Given the description of an element on the screen output the (x, y) to click on. 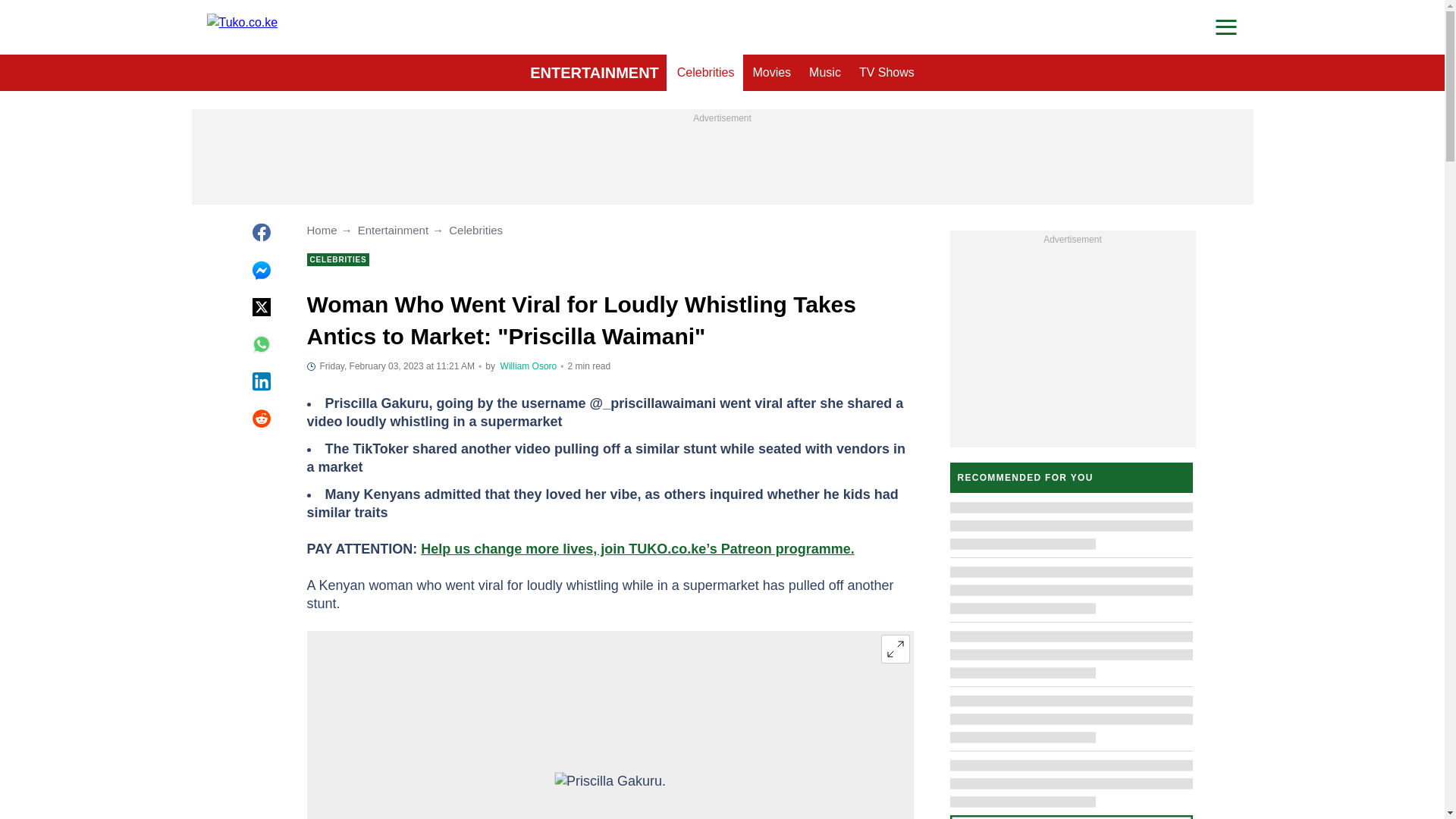
Expand image (895, 648)
Priscilla Gakuru. (609, 795)
TV Shows (886, 72)
Music (824, 72)
Author page (528, 366)
ENTERTAINMENT (594, 72)
Movies (770, 72)
Celebrities (706, 72)
